Given the description of an element on the screen output the (x, y) to click on. 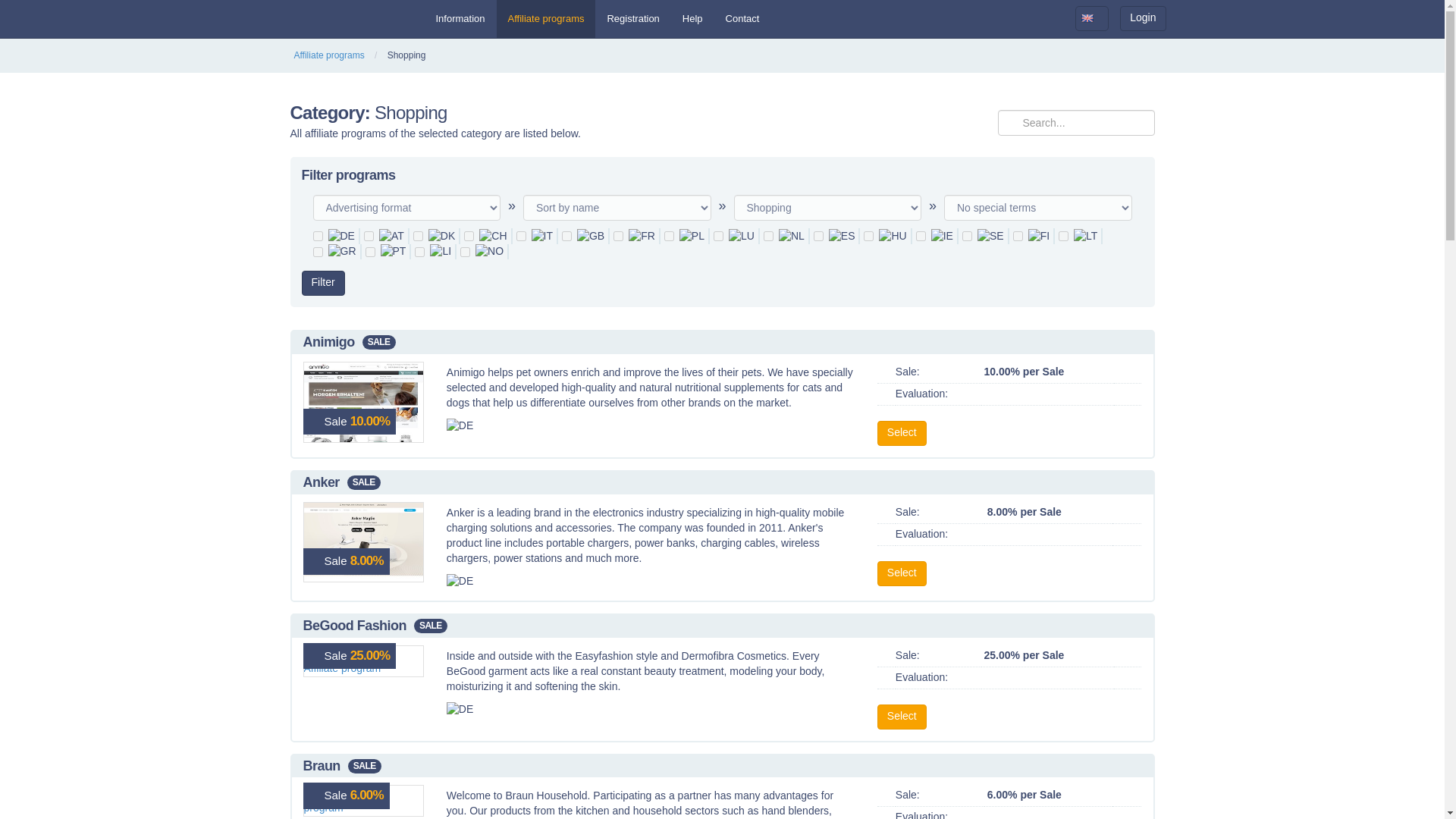
Information (460, 18)
Affiliate programs (329, 54)
Login (1142, 18)
DE (317, 235)
AT (369, 235)
PL (668, 235)
Affiliate programs (545, 18)
DK (418, 235)
LT (1063, 235)
ES (818, 235)
